Given the description of an element on the screen output the (x, y) to click on. 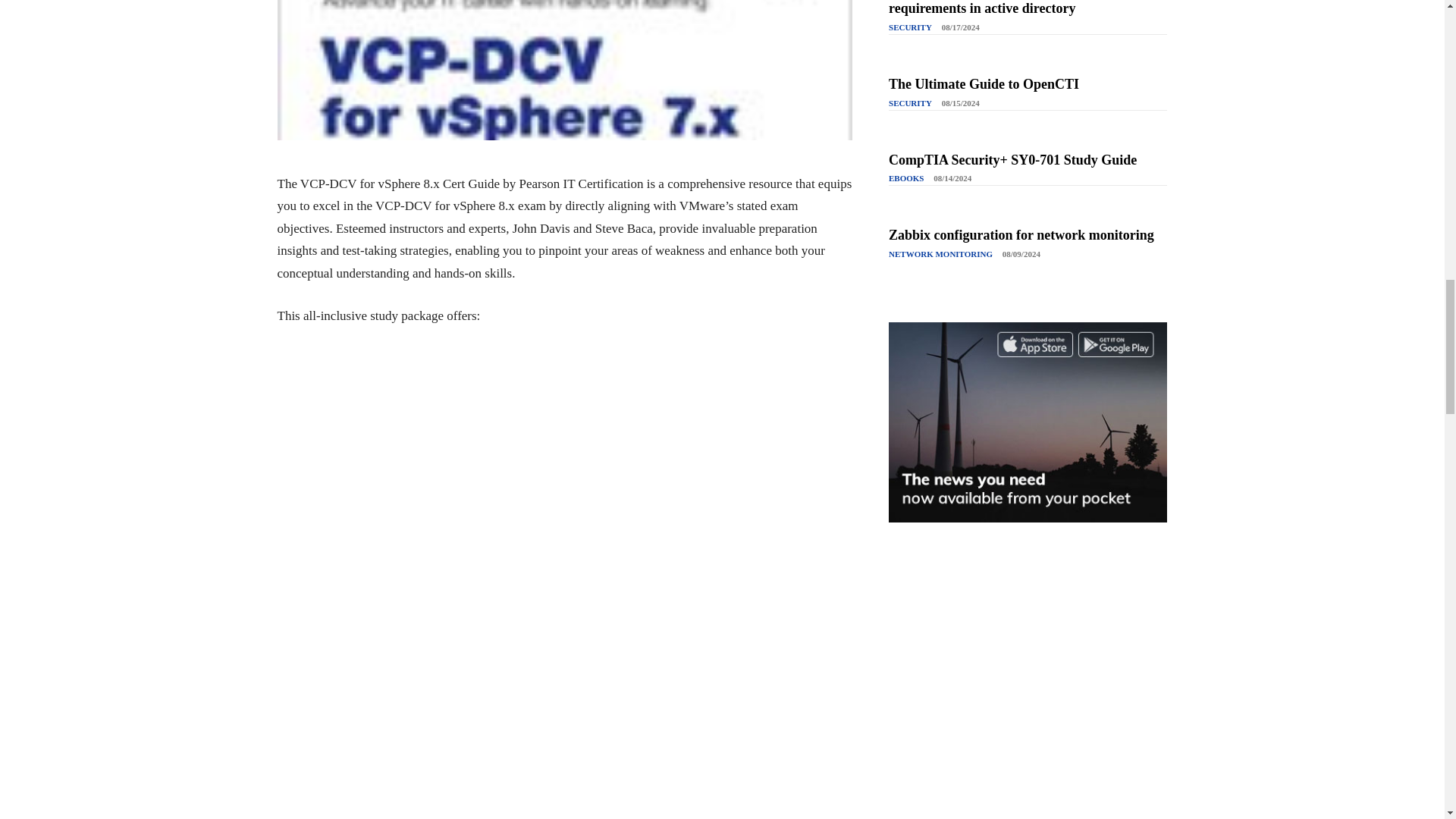
Zabbix configuration for network monitoring (1021, 234)
The Ultimate Guide to OpenCTI (983, 83)
